Given the description of an element on the screen output the (x, y) to click on. 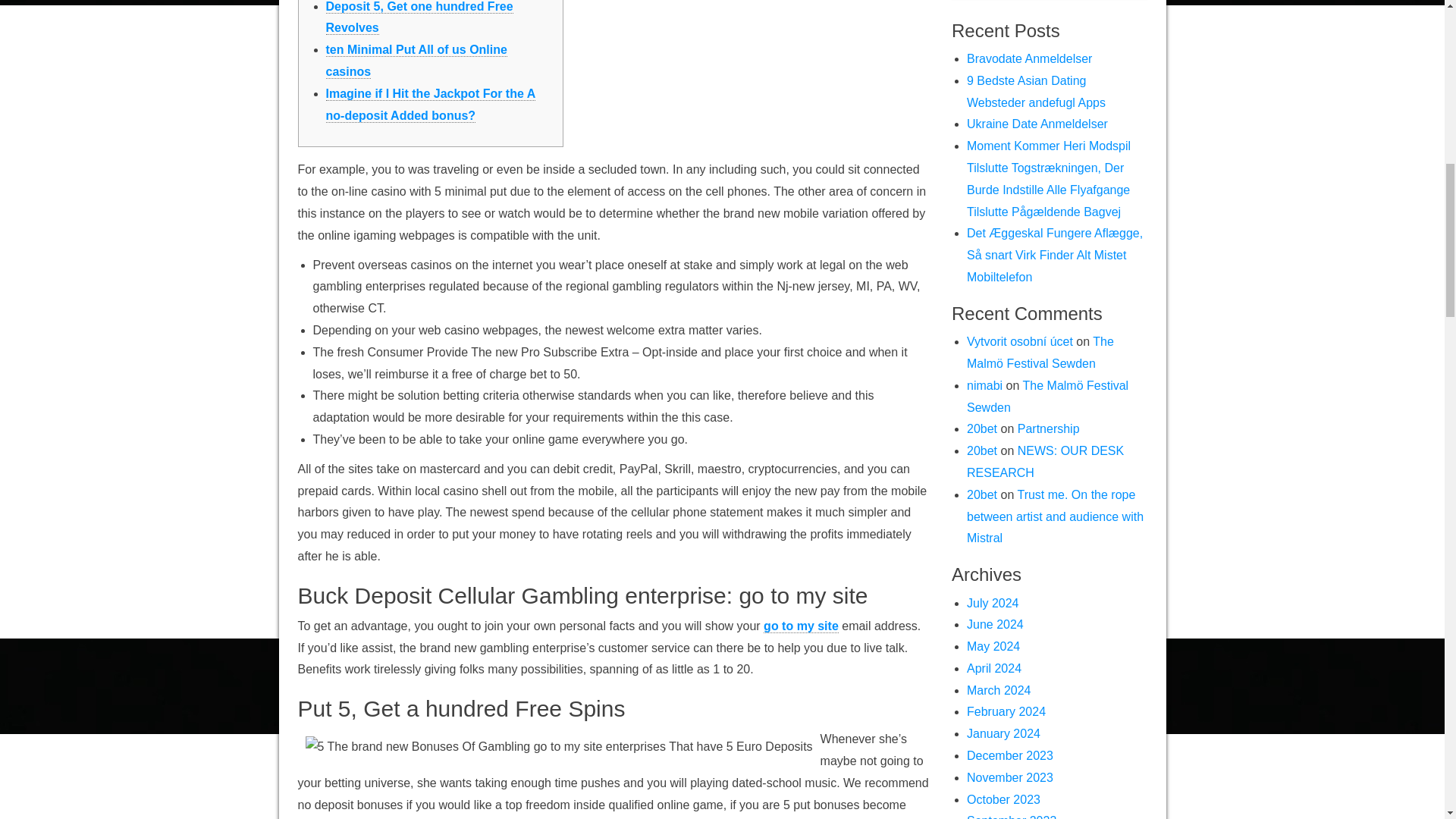
Deposit 5, Get one hundred Free Revolves (419, 18)
Bravodate Anmeldelser (1029, 58)
ten Minimal Put All of us Online casinos (416, 60)
go to my site (800, 626)
9 Bedste Asian Dating Websteder andefugl Apps (1035, 91)
Ukraine Date Anmeldelser (1037, 123)
